Given the description of an element on the screen output the (x, y) to click on. 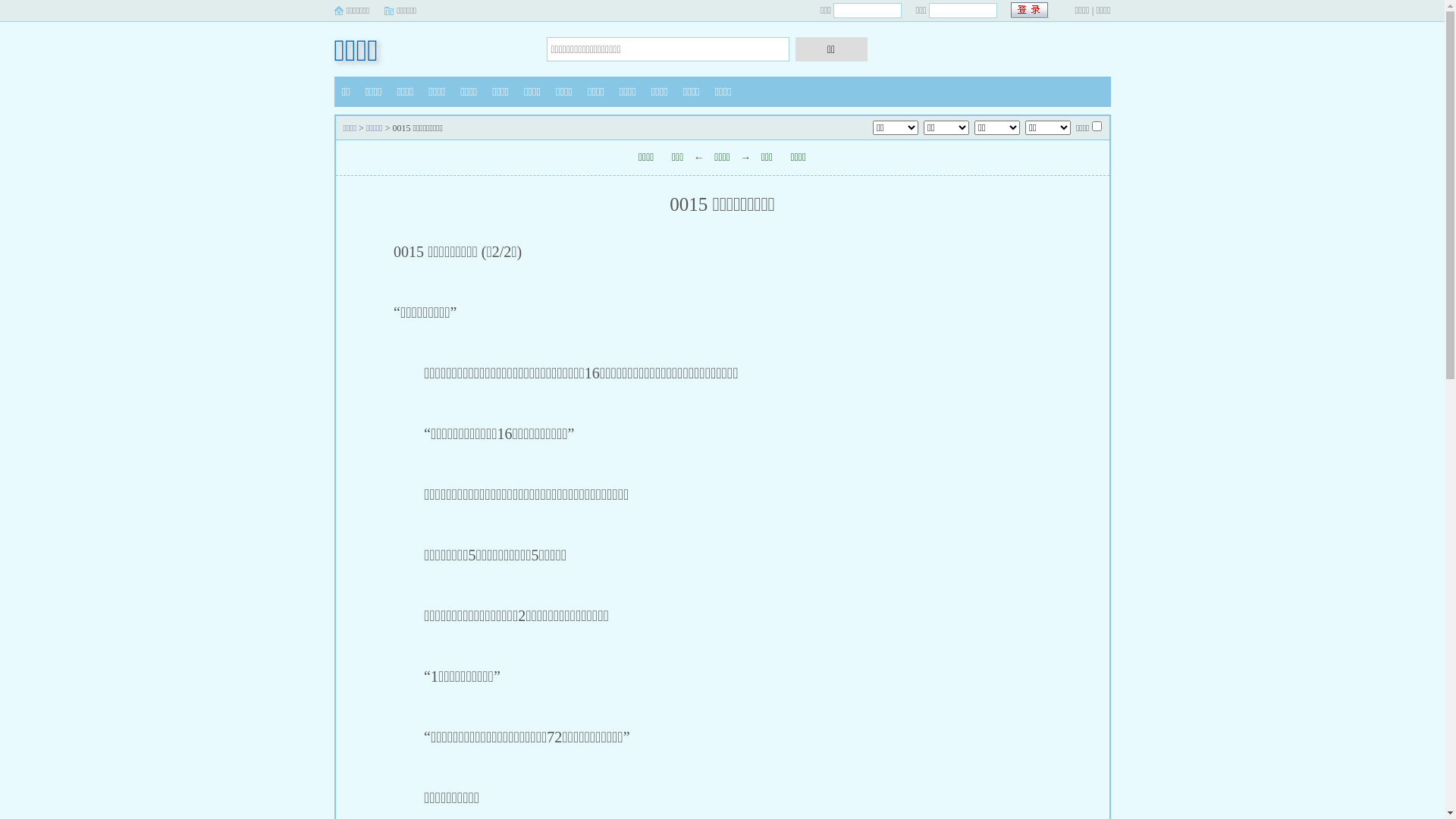
  Element type: text (1029, 10)
